Given the description of an element on the screen output the (x, y) to click on. 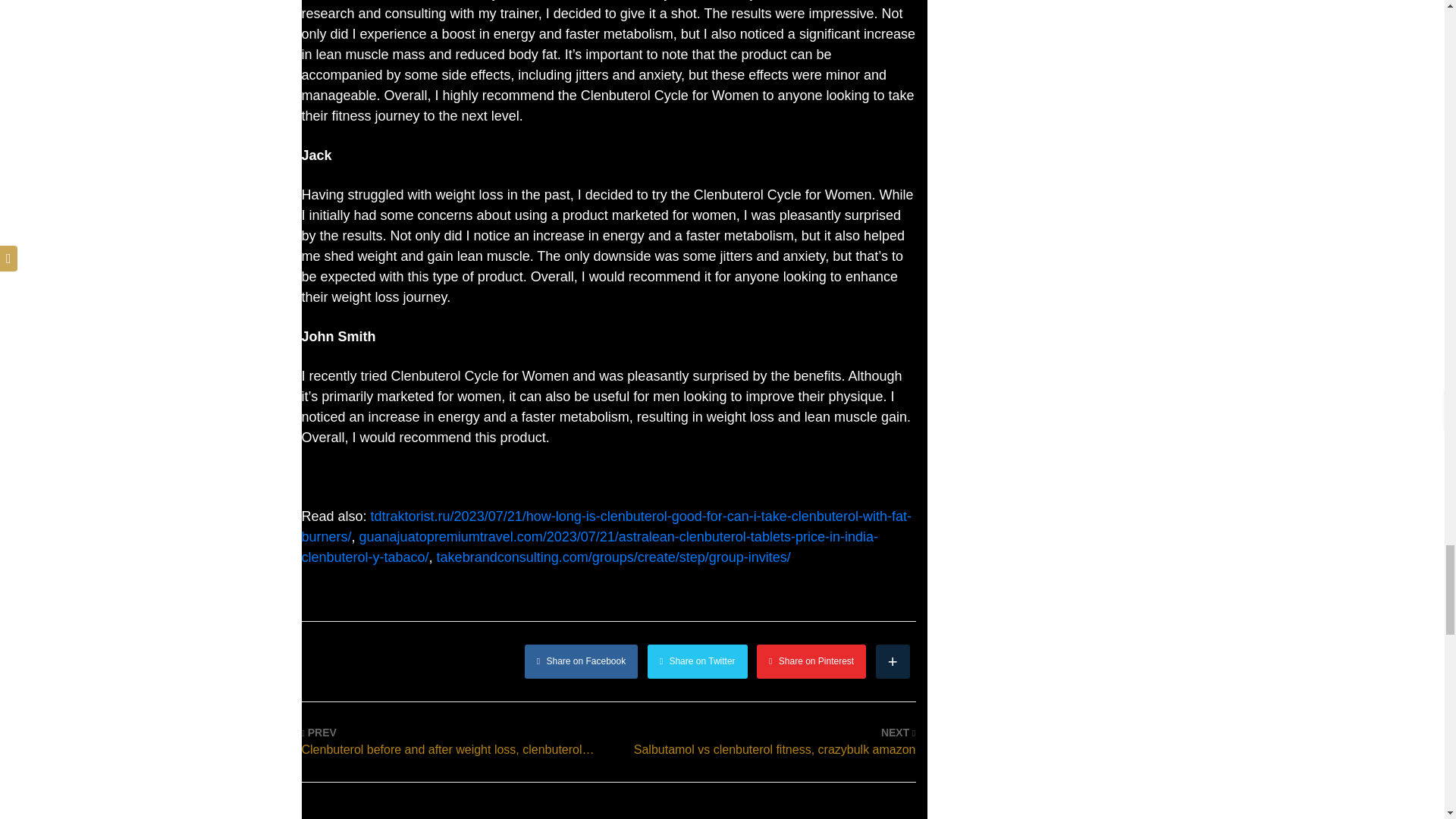
Share on Twitter (697, 661)
Share on Facebook (580, 661)
Share on Pinterest (811, 661)
